Given the description of an element on the screen output the (x, y) to click on. 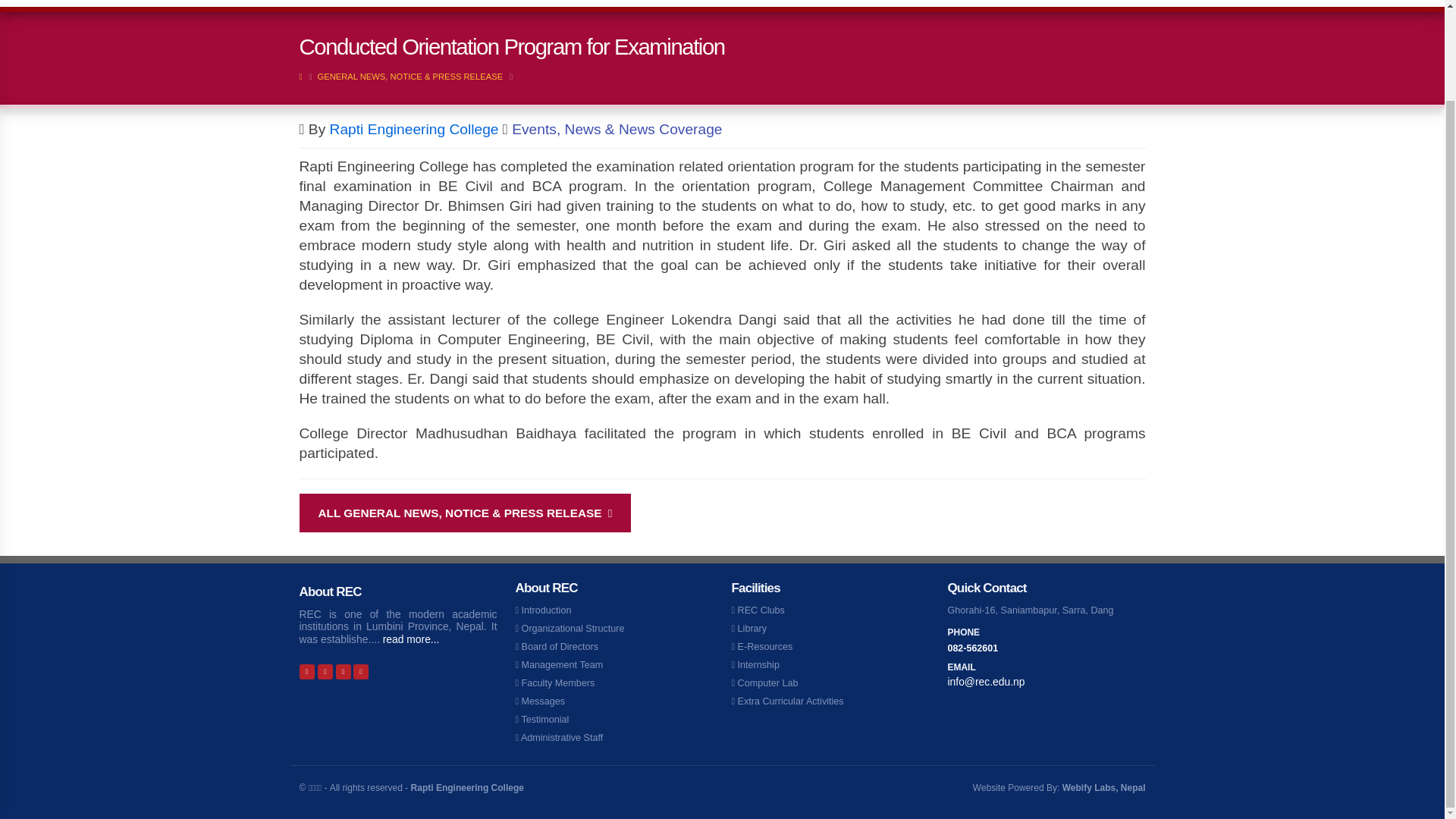
Home (509, 3)
Twitter (325, 670)
Programs (663, 3)
About REC (580, 3)
YouTube (360, 670)
Twitter (342, 670)
Facebook (306, 670)
home (509, 3)
